Given the description of an element on the screen output the (x, y) to click on. 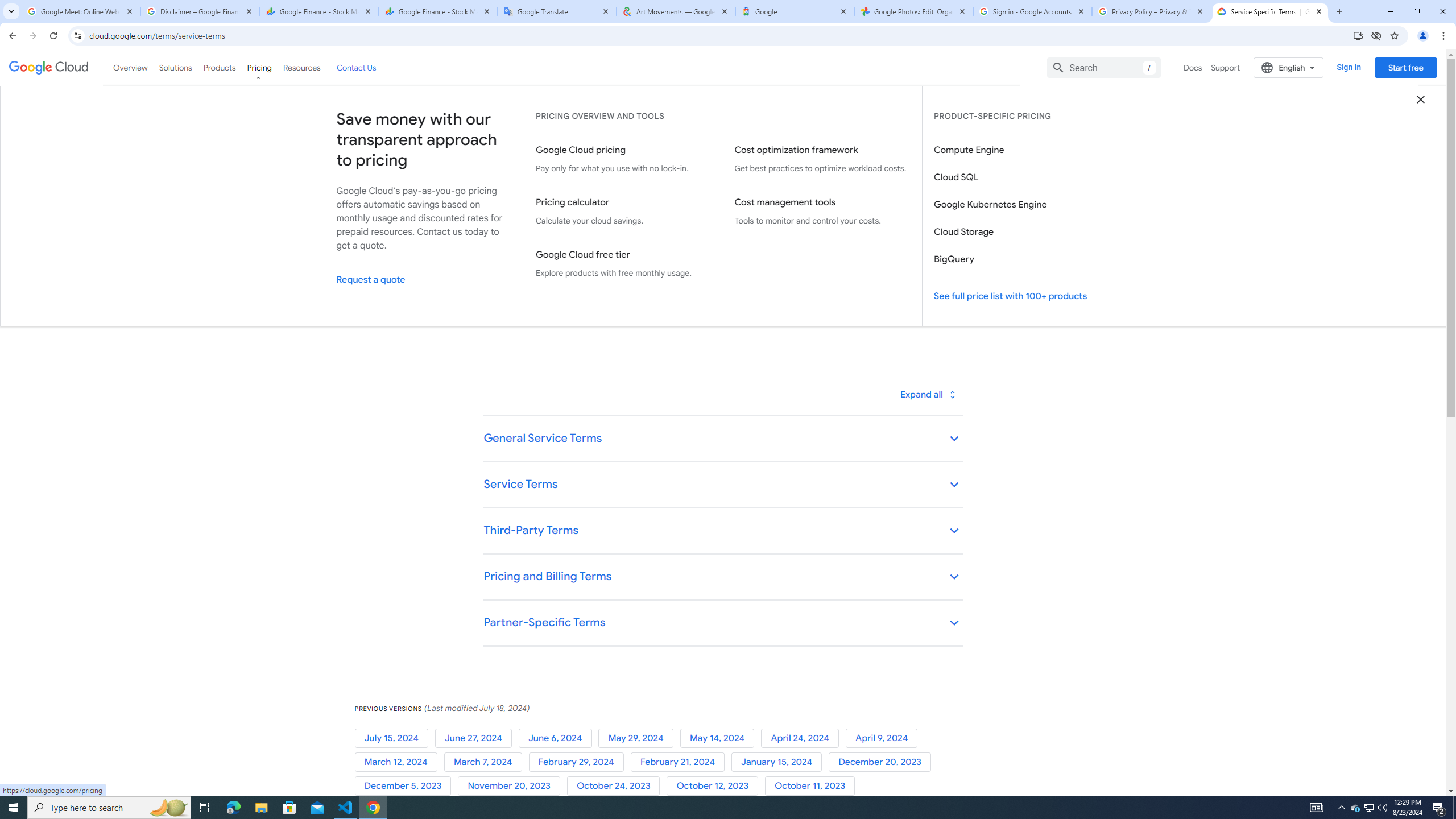
https://cloud.google.com/terms/services (799, 208)
Support (1225, 67)
Pricing and Billing Terms keyboard_arrow_down (722, 577)
Service Terms keyboard_arrow_down (722, 485)
December 5, 2023 (405, 786)
June 27, 2024 (475, 737)
BigQuery (1021, 259)
